Given the description of an element on the screen output the (x, y) to click on. 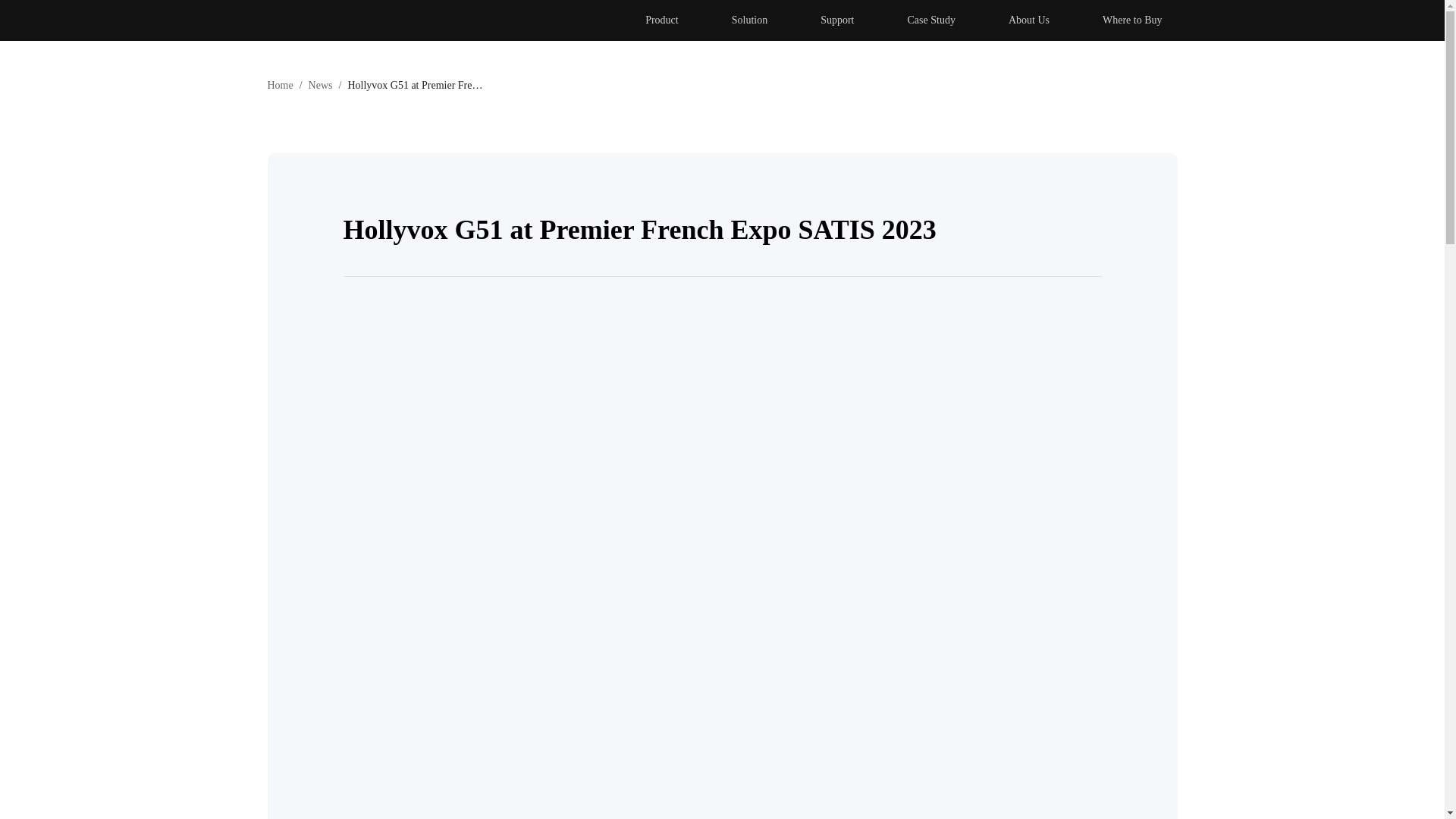
Where to Buy (1132, 20)
News (320, 84)
Case Study (931, 20)
Support (837, 20)
About Us (1028, 20)
Product (662, 20)
Home (279, 84)
Solution (749, 20)
